Given the description of an element on the screen output the (x, y) to click on. 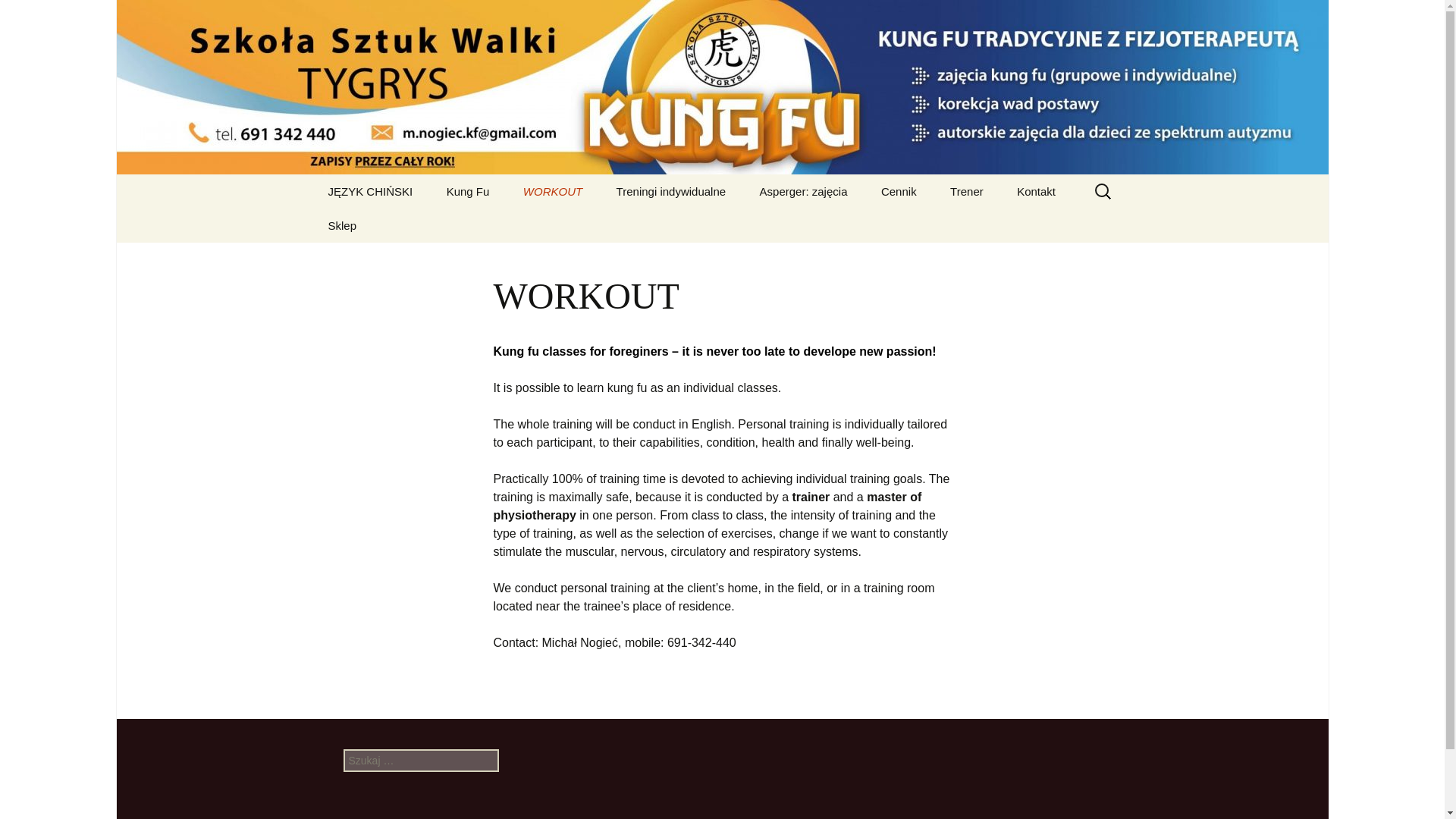
Kung Fu (467, 191)
WORKOUT (552, 191)
Sklep (388, 259)
Szukaj (18, 15)
Kontakt (1035, 191)
Treningi indywidualne (671, 191)
Trener (966, 191)
Sklep (342, 225)
Szukaj (34, 15)
Cennik (898, 191)
